Given the description of an element on the screen output the (x, y) to click on. 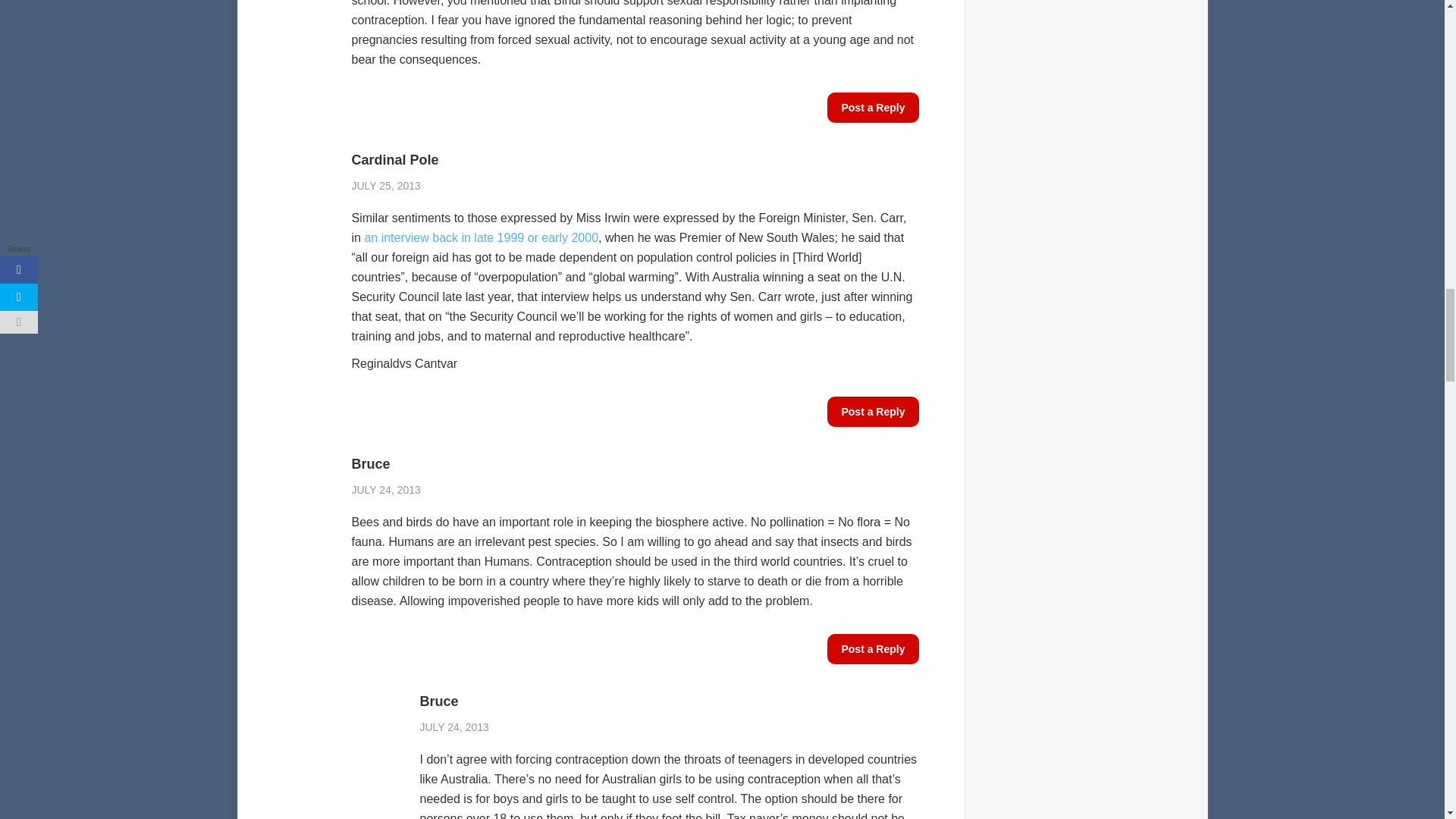
Cardinal Pole (635, 160)
Post a Reply (872, 411)
Post a Reply (872, 107)
Bruce (669, 701)
an interview back in late 1999 or early 2000 (481, 237)
Post a Reply (872, 648)
Bruce (635, 463)
